Given the description of an element on the screen output the (x, y) to click on. 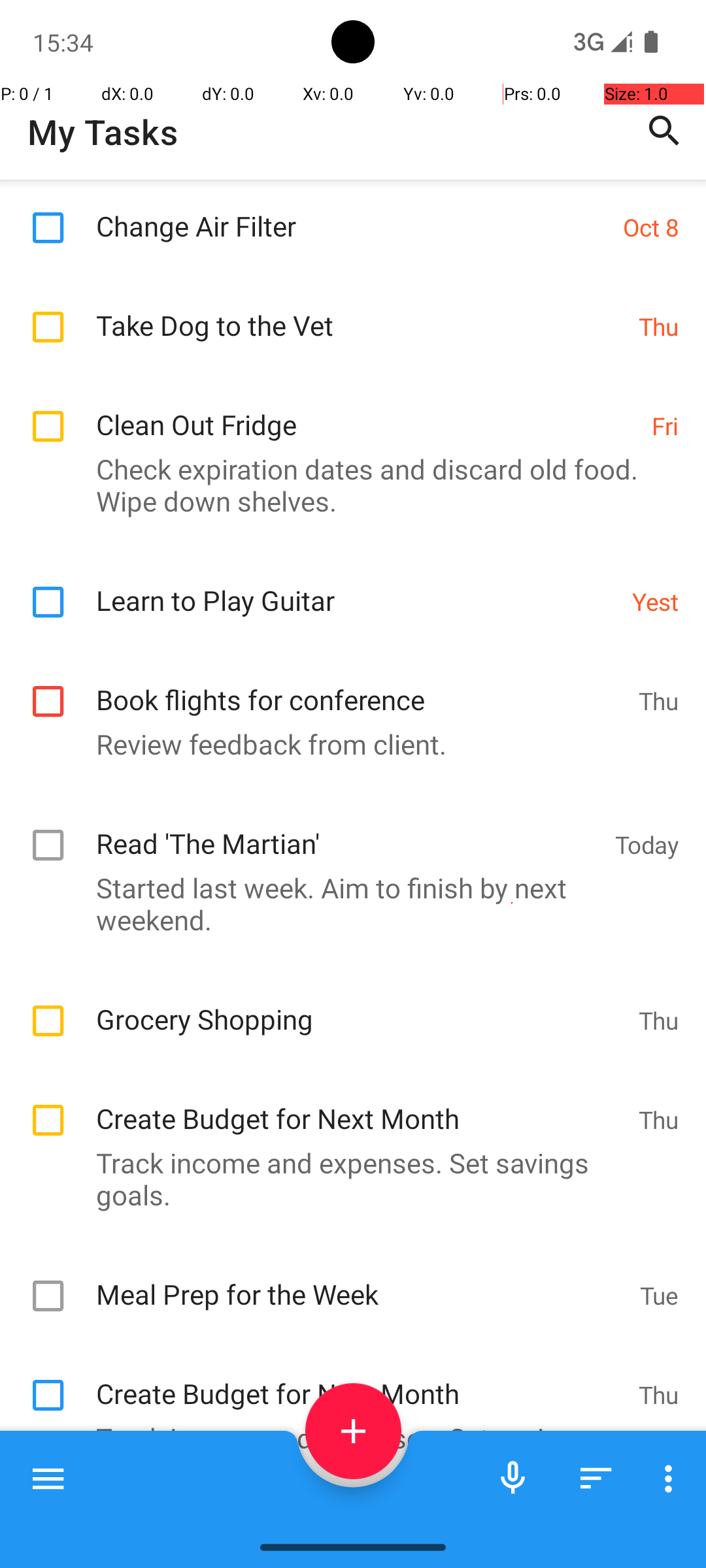
Oct 8 Element type: android.widget.TextView (650, 226)
Take Dog to the Vet Element type: android.widget.TextView (360, 310)
Clean Out Fridge Element type: android.widget.TextView (367, 410)
Check expiration dates and discard old food. Wipe down shelves. Element type: android.widget.TextView (346, 484)
Learn to Play Guitar Element type: android.widget.TextView (357, 586)
Book flights for conference Element type: android.widget.TextView (360, 685)
Review feedback from client. Element type: android.widget.TextView (346, 743)
Read 'The Martian' Element type: android.widget.TextView (348, 829)
Started last week. Aim to finish by next weekend. Element type: android.widget.TextView (346, 903)
Create Budget for Next Month Element type: android.widget.TextView (360, 1104)
Track income and expenses. Set savings goals. Element type: android.widget.TextView (346, 1178)
Schedule Dentist Appointment Element type: android.widget.TextView (348, 1524)
